Given the description of an element on the screen output the (x, y) to click on. 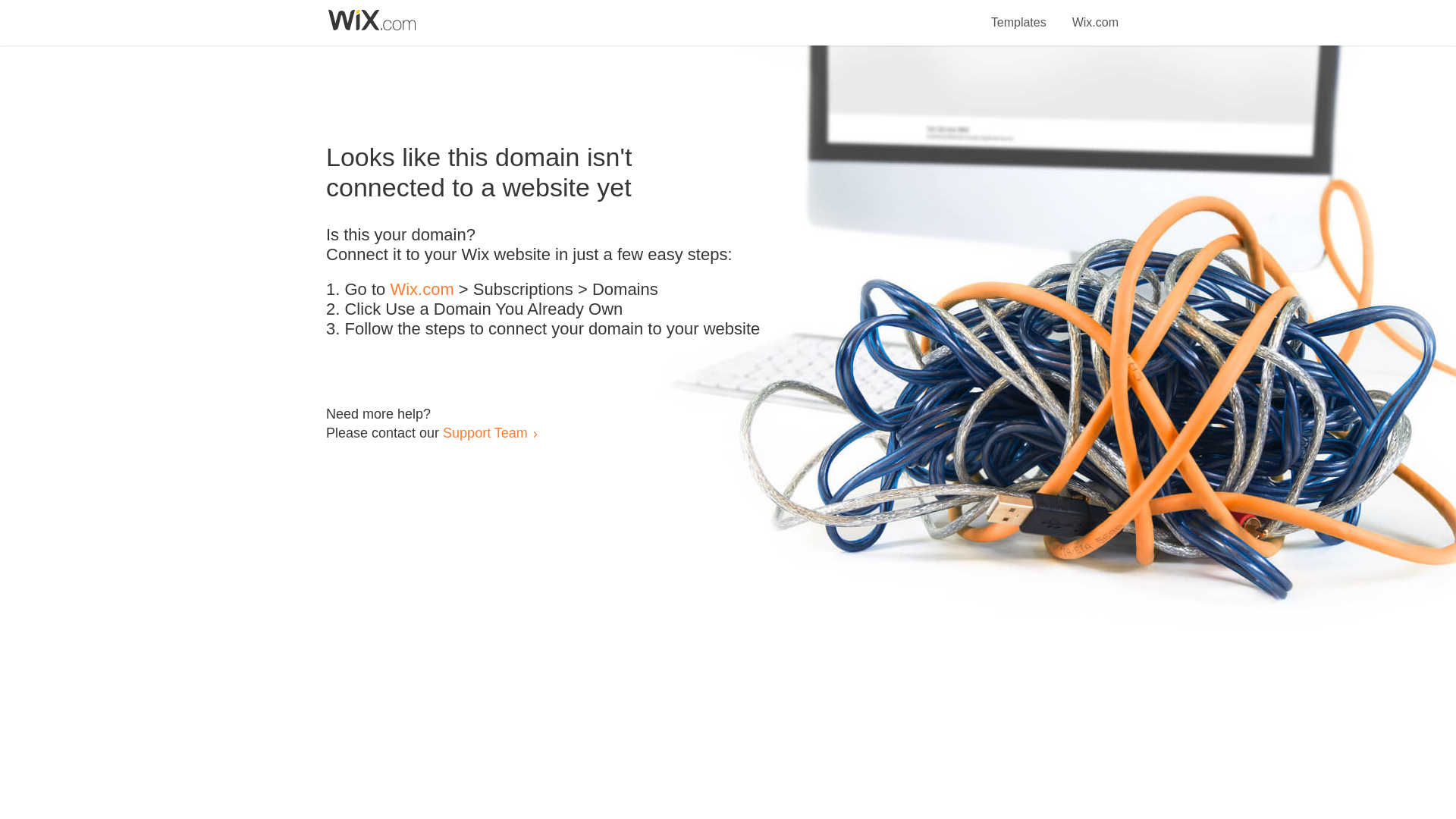
Wix.com (421, 289)
Support Team (484, 432)
Wix.com (1095, 14)
Templates (1018, 14)
